Given the description of an element on the screen output the (x, y) to click on. 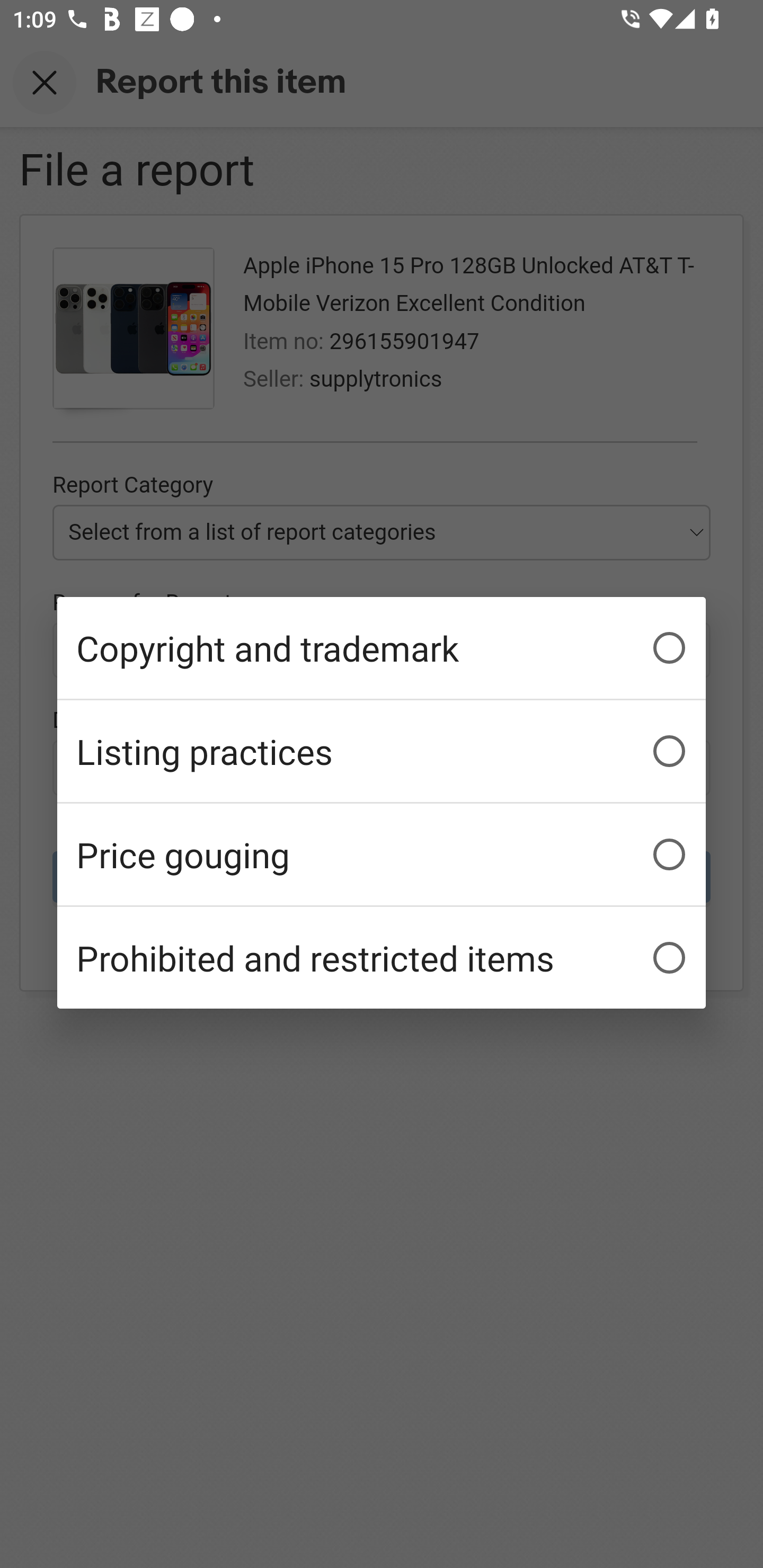
Copyright and trademark (381, 648)
Listing practices (381, 750)
Price gouging (381, 853)
Prohibited and restricted items (381, 957)
